Given the description of an element on the screen output the (x, y) to click on. 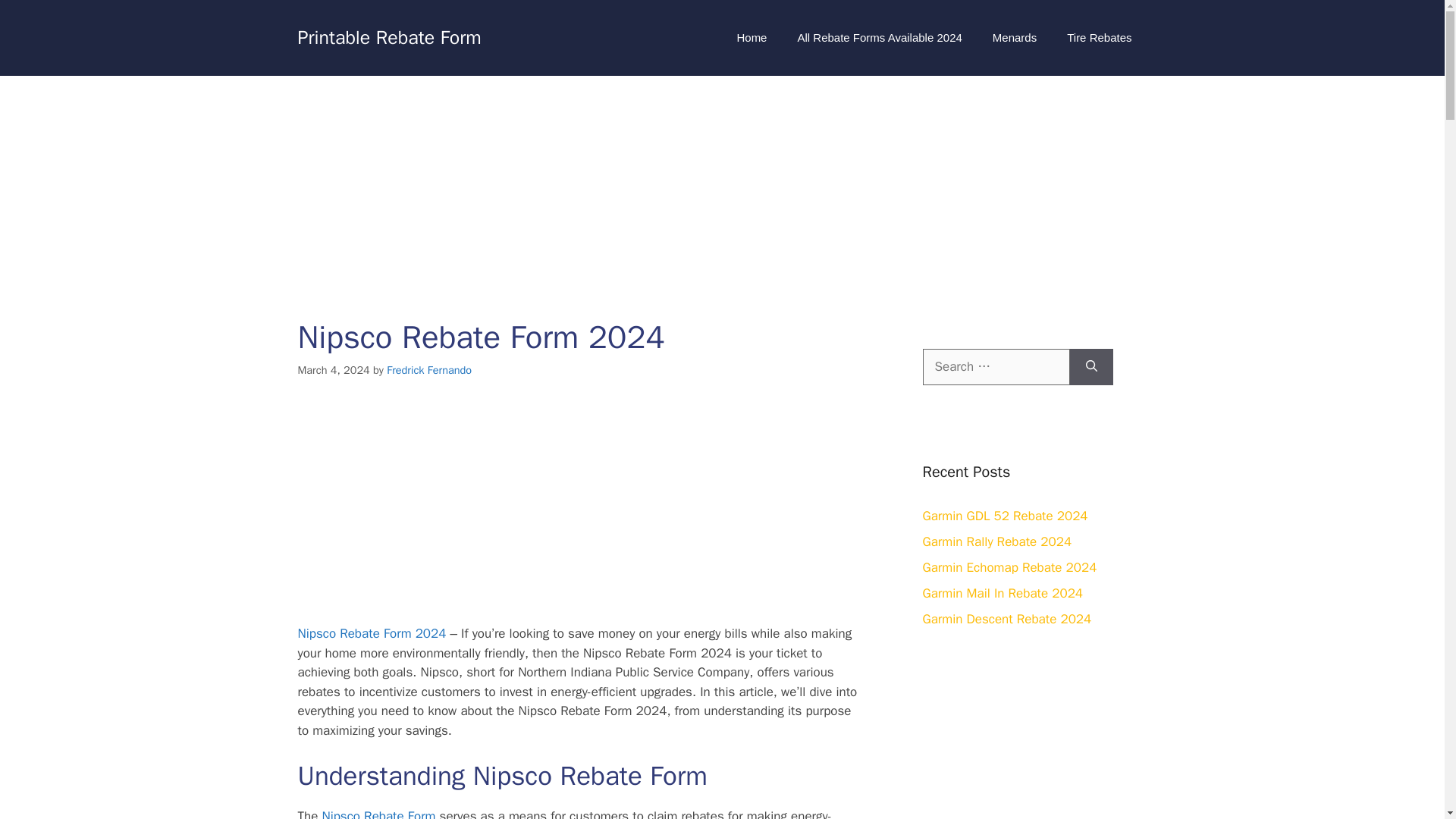
View all posts by Fredrick Fernando (429, 369)
Tire Rebates (1099, 37)
Menards (1013, 37)
Nipsco Rebate Form (376, 813)
Home (750, 37)
Fredrick Fernando (429, 369)
Advertisement (579, 510)
All Rebate Forms Available 2024 (878, 37)
Nipsco Rebate Form 2024 (371, 633)
